Given the description of an element on the screen output the (x, y) to click on. 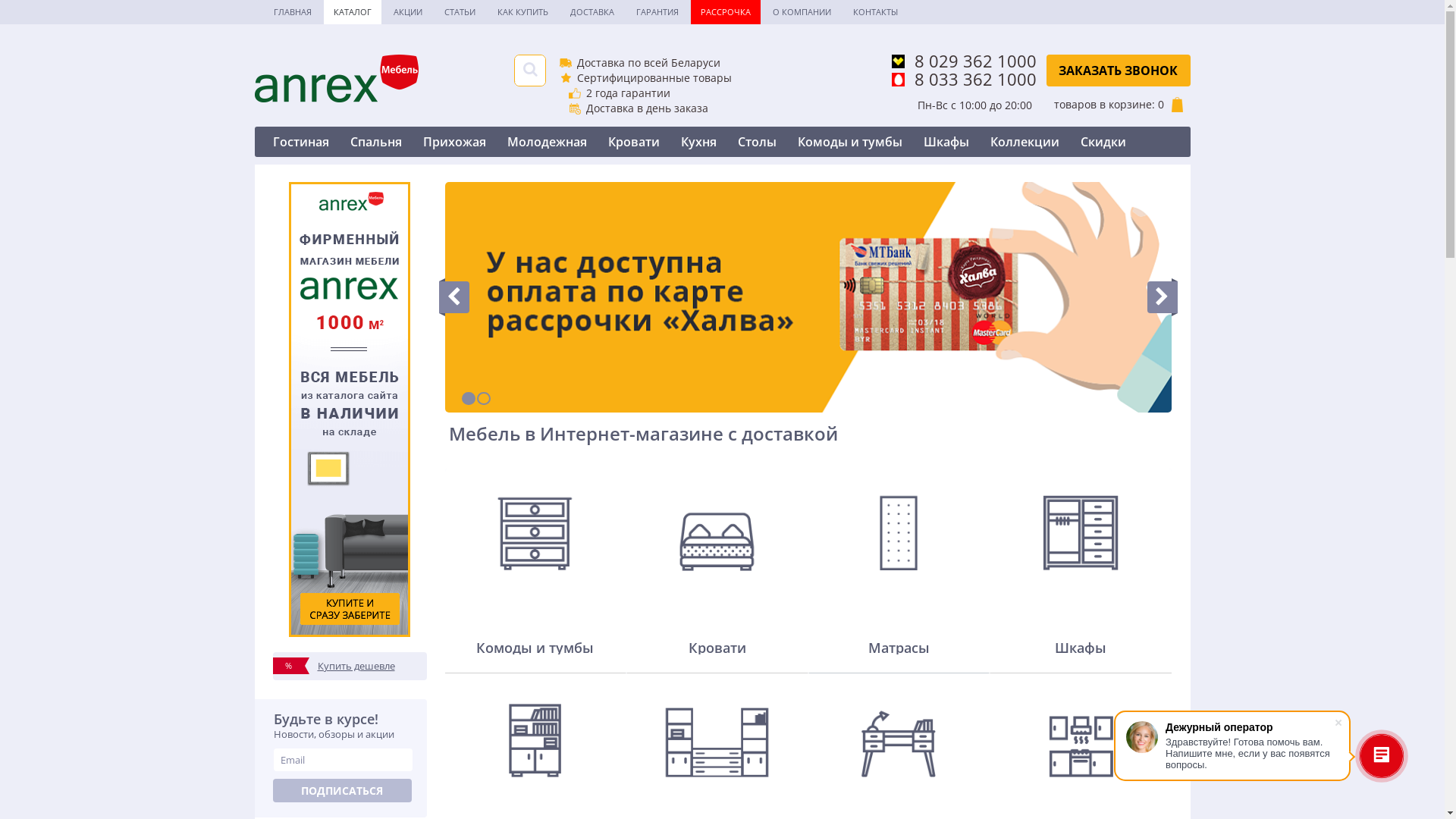
2 Element type: hover (482, 398)
8 029 362 1000 Element type: text (963, 60)
1 Element type: hover (467, 398)
8 033 362 1000 Element type: text (963, 78)
